Given the description of an element on the screen output the (x, y) to click on. 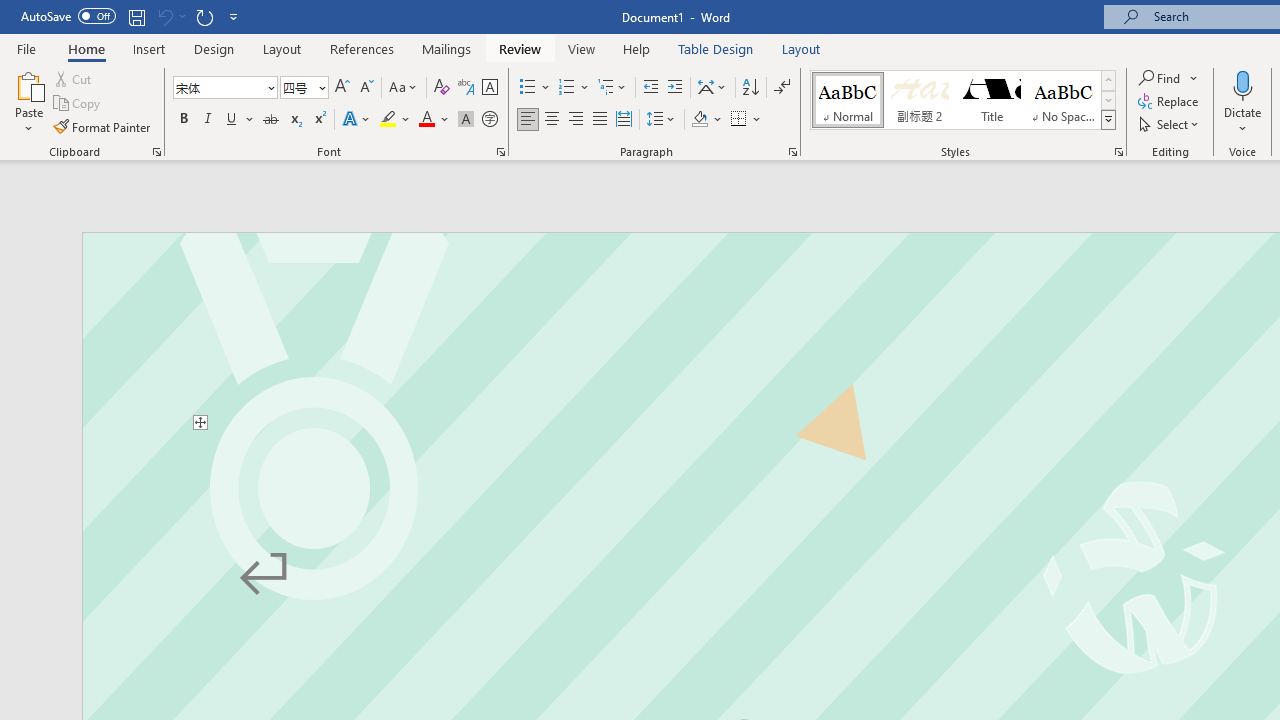
Distributed (623, 119)
Change Case (404, 87)
Row Down (1108, 100)
Can't Undo (170, 15)
Line and Paragraph Spacing (661, 119)
Decrease Indent (650, 87)
Office Clipboard... (156, 151)
Italic (207, 119)
Sort... (750, 87)
Can't Undo (164, 15)
